Given the description of an element on the screen output the (x, y) to click on. 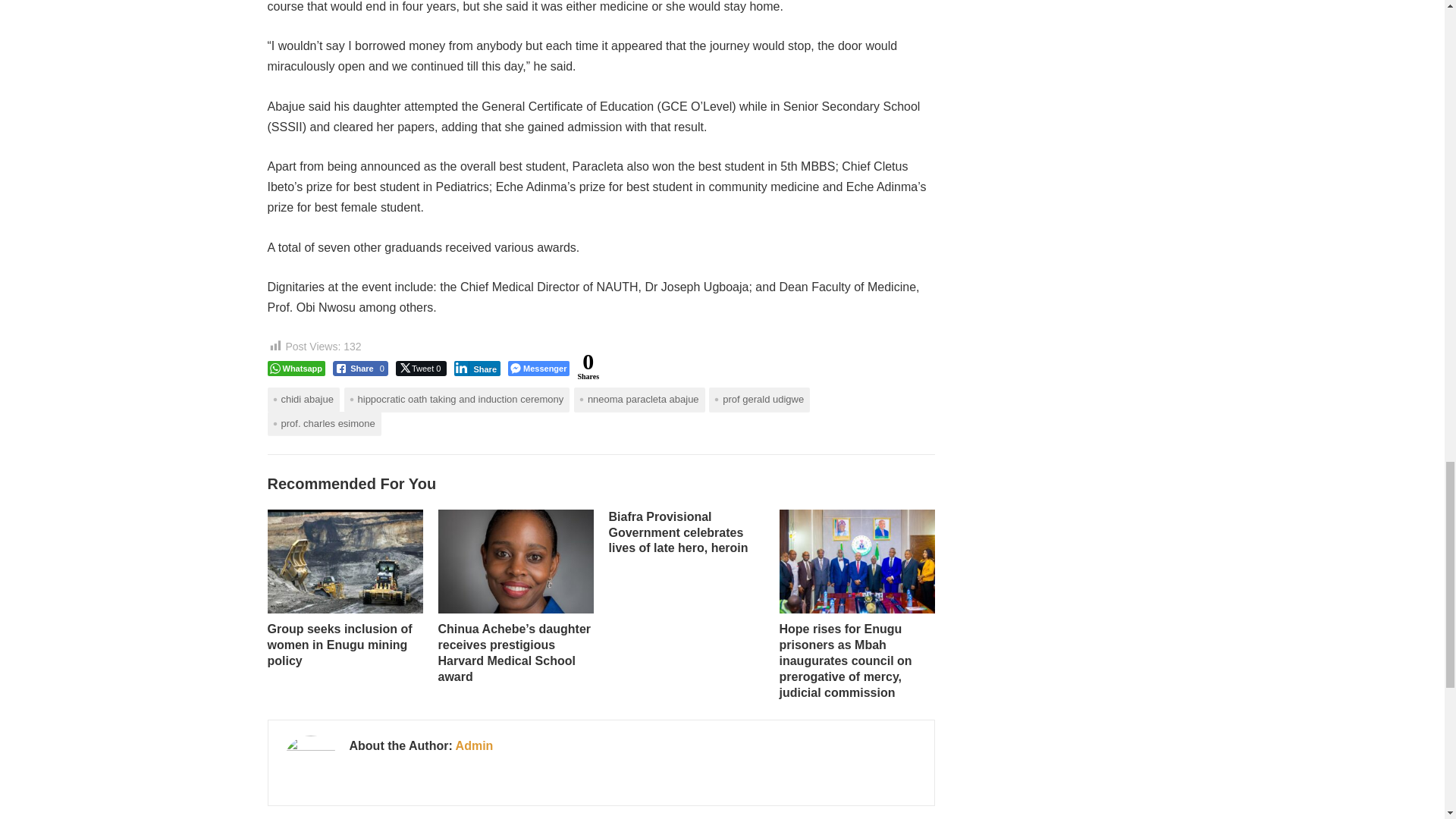
Whatsapp (295, 368)
Tweet 0 (421, 368)
Share 0 (360, 368)
